Given the description of an element on the screen output the (x, y) to click on. 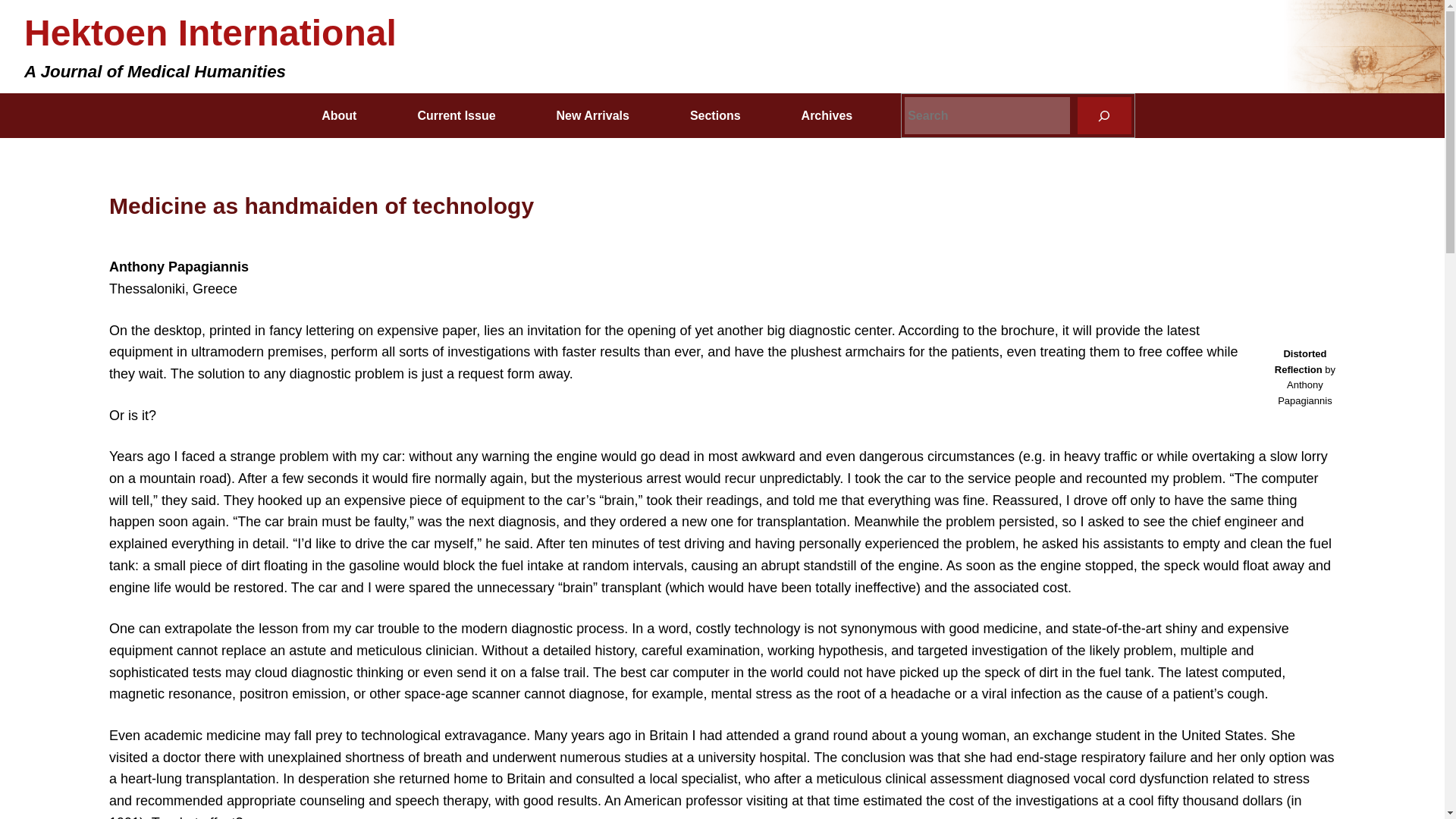
Sections (715, 115)
Archives (826, 115)
Current Issue (455, 115)
About (338, 115)
Hektoen International (210, 33)
New Arrivals (593, 115)
